Given the description of an element on the screen output the (x, y) to click on. 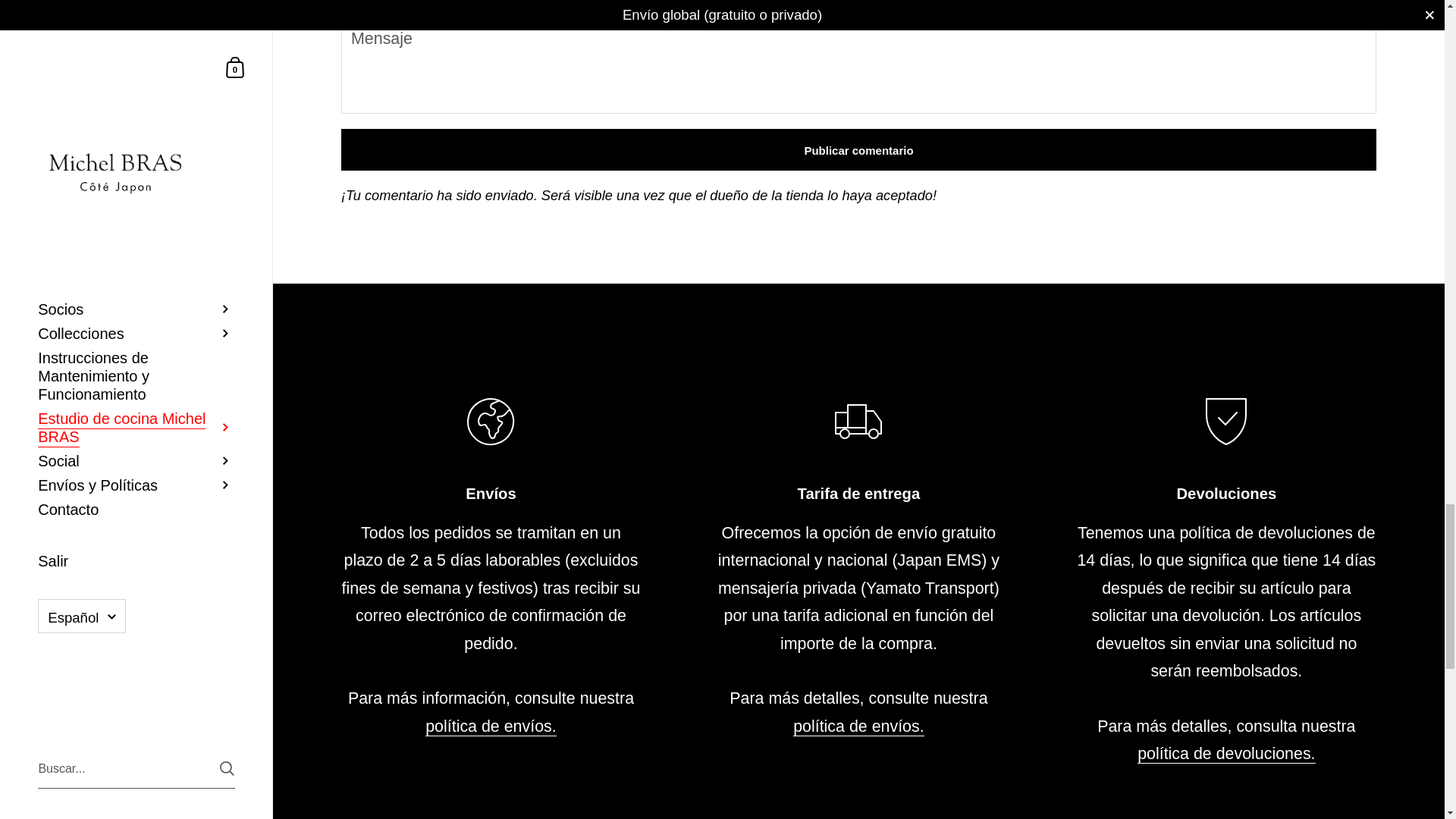
Publicar comentario (857, 149)
